Given the description of an element on the screen output the (x, y) to click on. 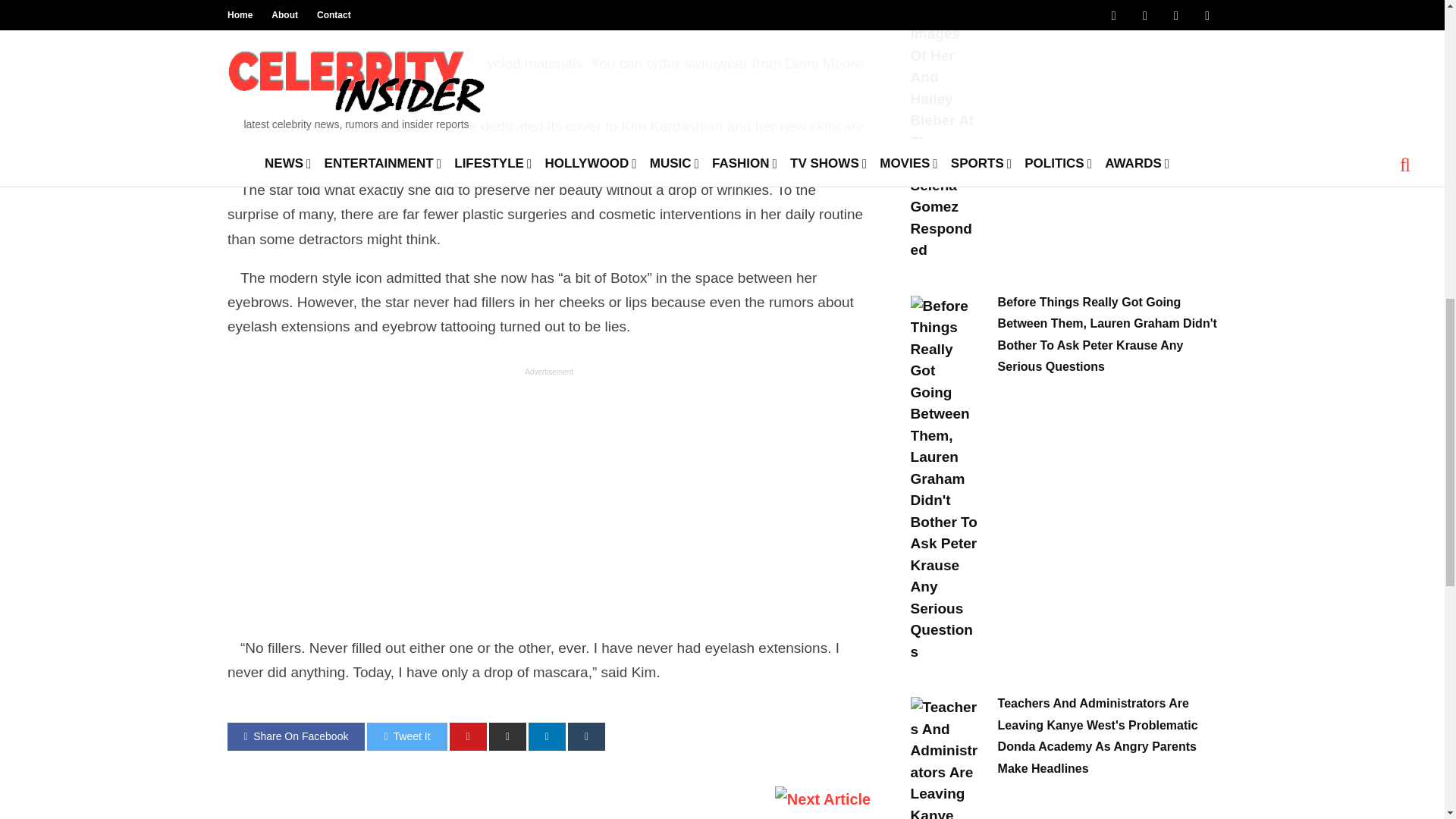
Share On Twitter (406, 736)
Share On Facebook (296, 736)
Share On Pinterest (467, 736)
Share On Linkedin (547, 736)
Share On Reddit (507, 736)
Share On Tumblr (586, 736)
